Given the description of an element on the screen output the (x, y) to click on. 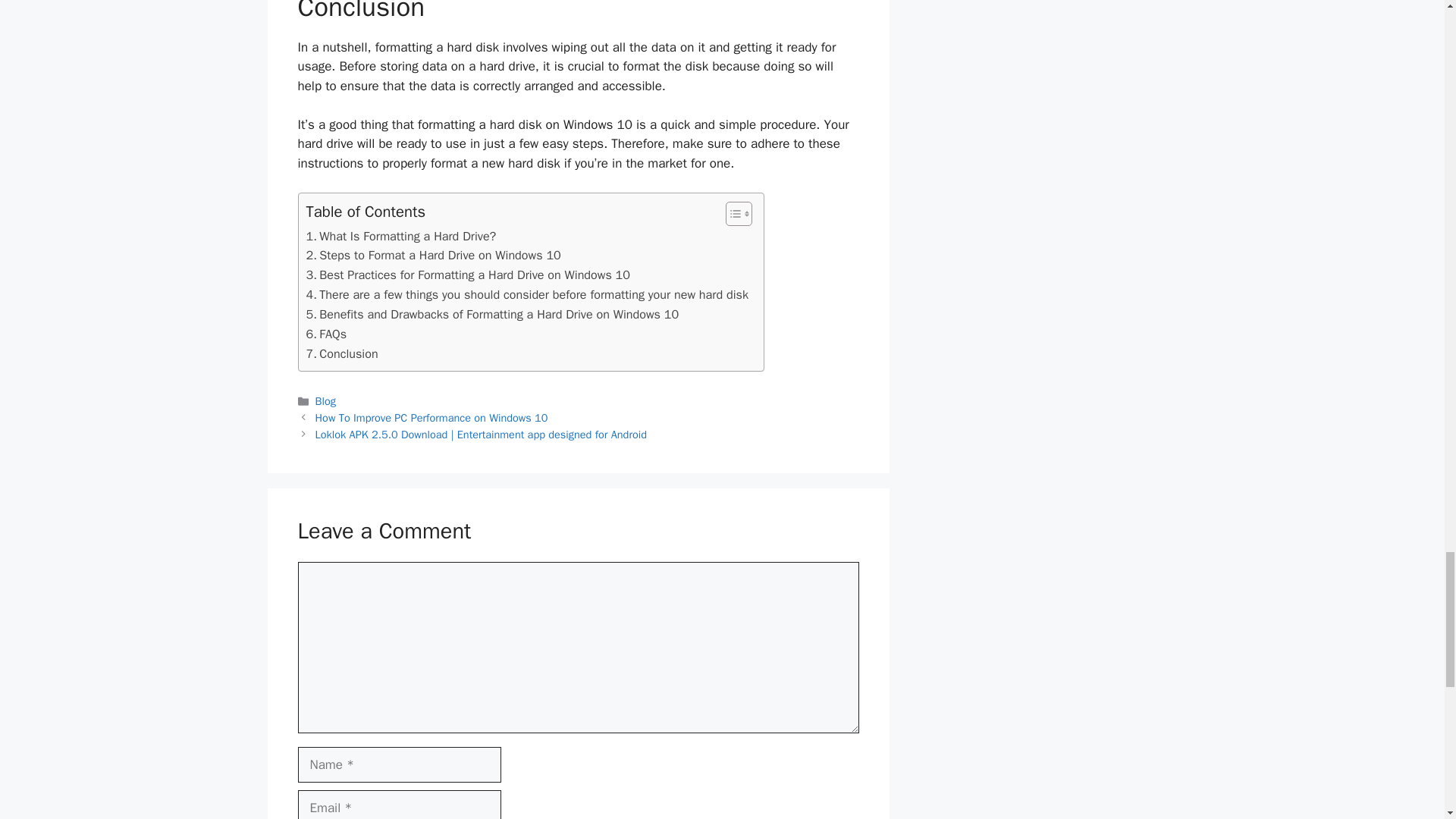
How To Improve PC Performance on Windows 10 (431, 418)
Steps to Format a Hard Drive on Windows 10 (432, 255)
Best Practices for Formatting a Hard Drive on Windows 10 (467, 275)
Steps to Format a Hard Drive on Windows 10 (432, 255)
What Is Formatting a Hard Drive? (400, 236)
Best Practices for Formatting a Hard Drive on Windows 10 (467, 275)
Blog (325, 400)
Conclusion (341, 353)
What Is Formatting a Hard Drive? (400, 236)
